Given the description of an element on the screen output the (x, y) to click on. 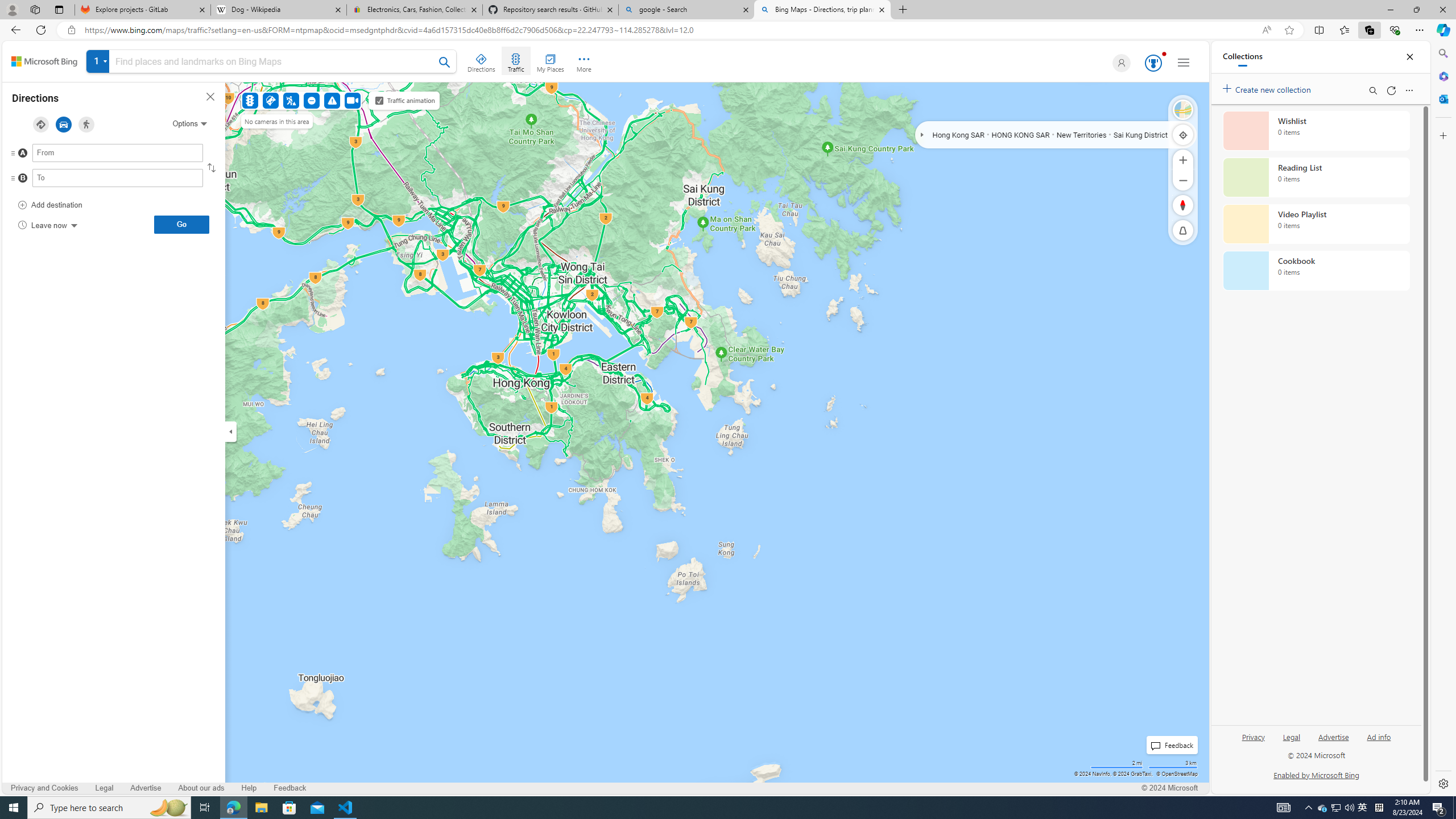
AutomationID: rh_meter (1152, 62)
Read aloud this page (Ctrl+Shift+U) (1266, 29)
Address and search bar (669, 29)
Leave now (47, 224)
Expand/Collapse Geochain (921, 134)
Reset to Default Pitch (1182, 230)
Advertise (1333, 736)
Privacy (1252, 741)
Add this page to favorites (Ctrl+D) (1289, 29)
Restore (1416, 9)
Streetside (1182, 109)
Help (248, 787)
Add destination (49, 204)
Cameras (353, 100)
Workspaces (34, 9)
